Given the description of an element on the screen output the (x, y) to click on. 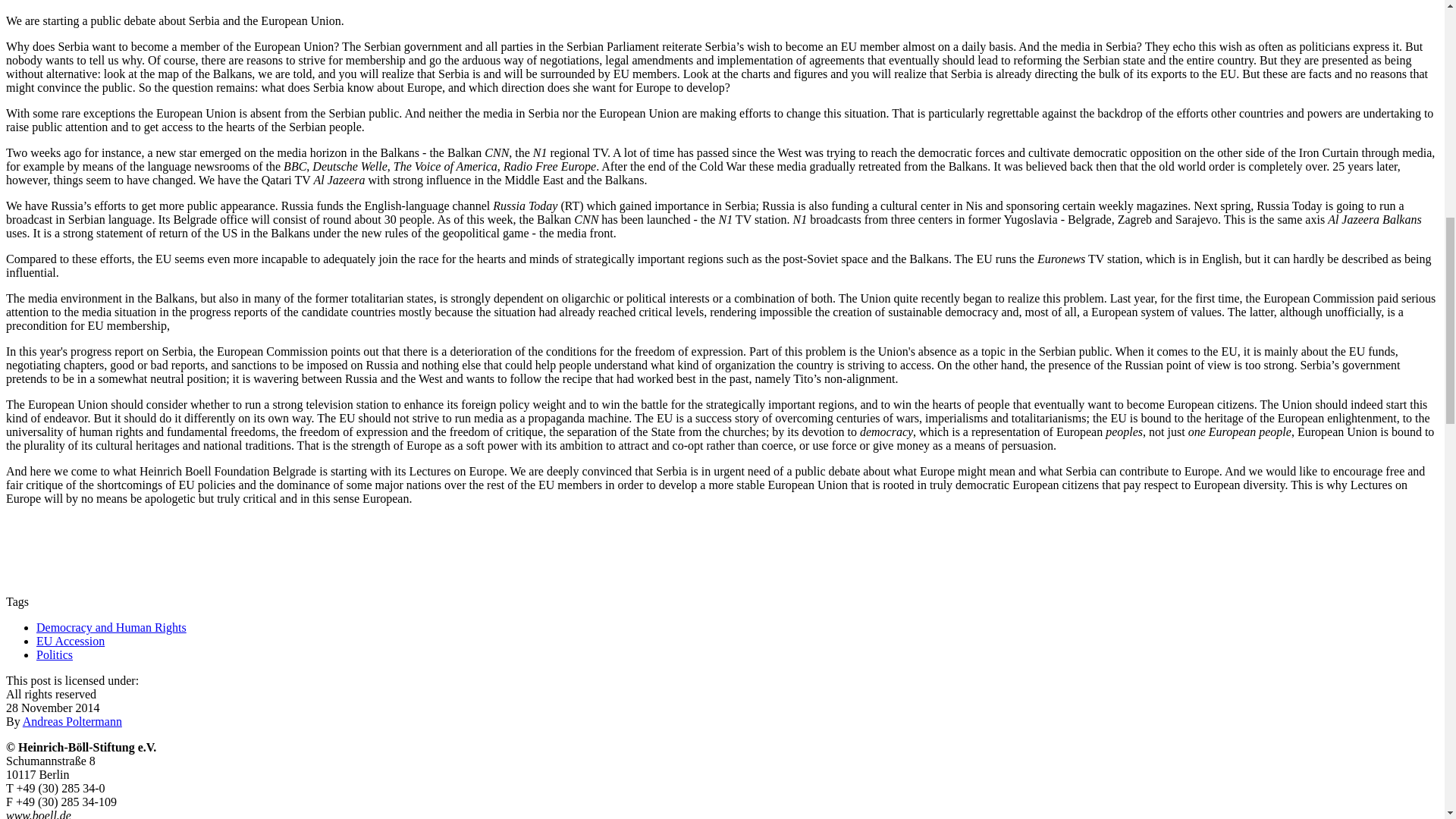
Andreas Poltermann (72, 721)
Democracy and Human Rights (111, 626)
Politics (54, 654)
EU Accession (70, 640)
